Given the description of an element on the screen output the (x, y) to click on. 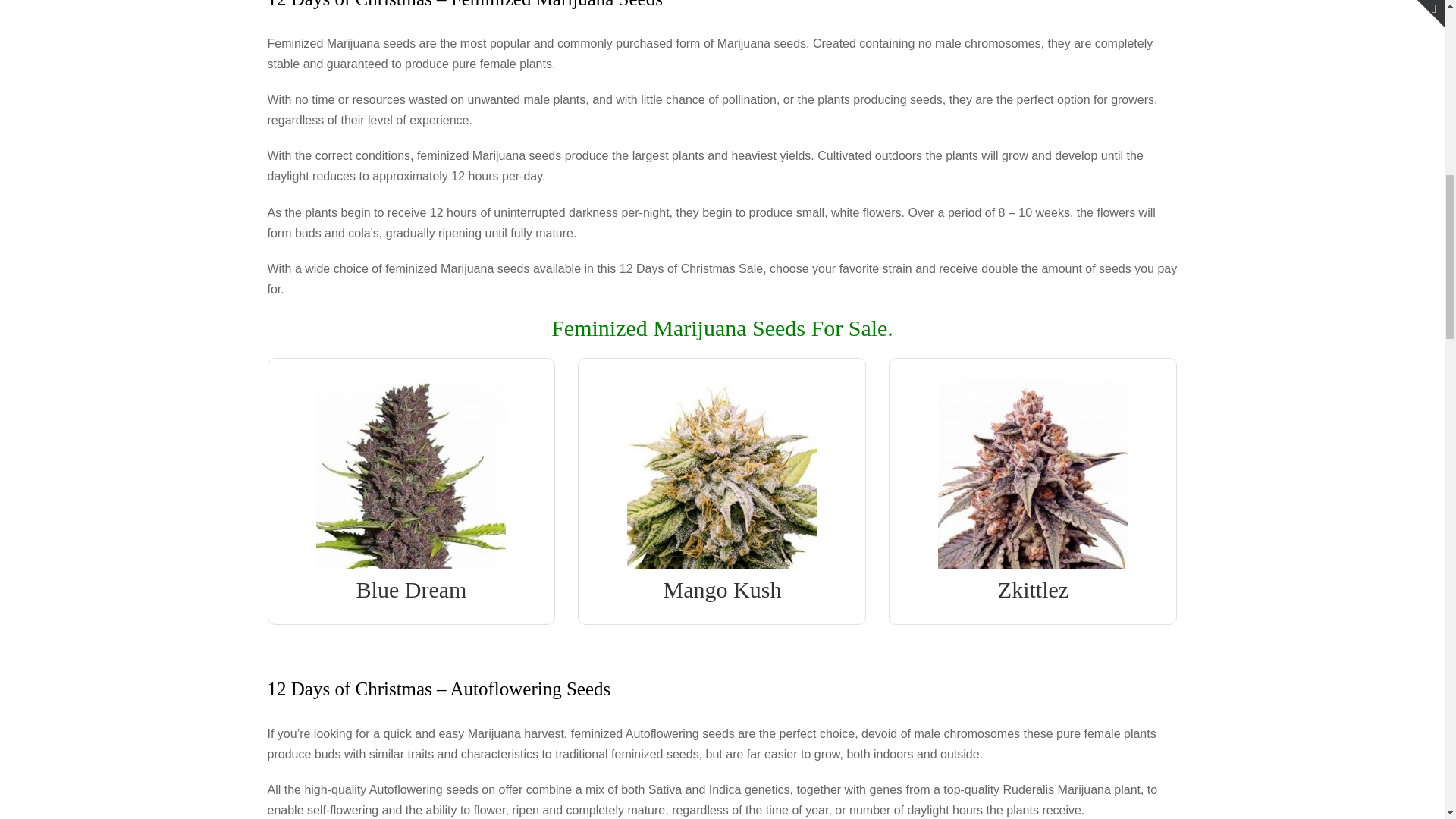
VIEW PRODUCT (411, 396)
VIEW PRODUCT (1032, 396)
VIEW PRODUCT (721, 396)
